Given the description of an element on the screen output the (x, y) to click on. 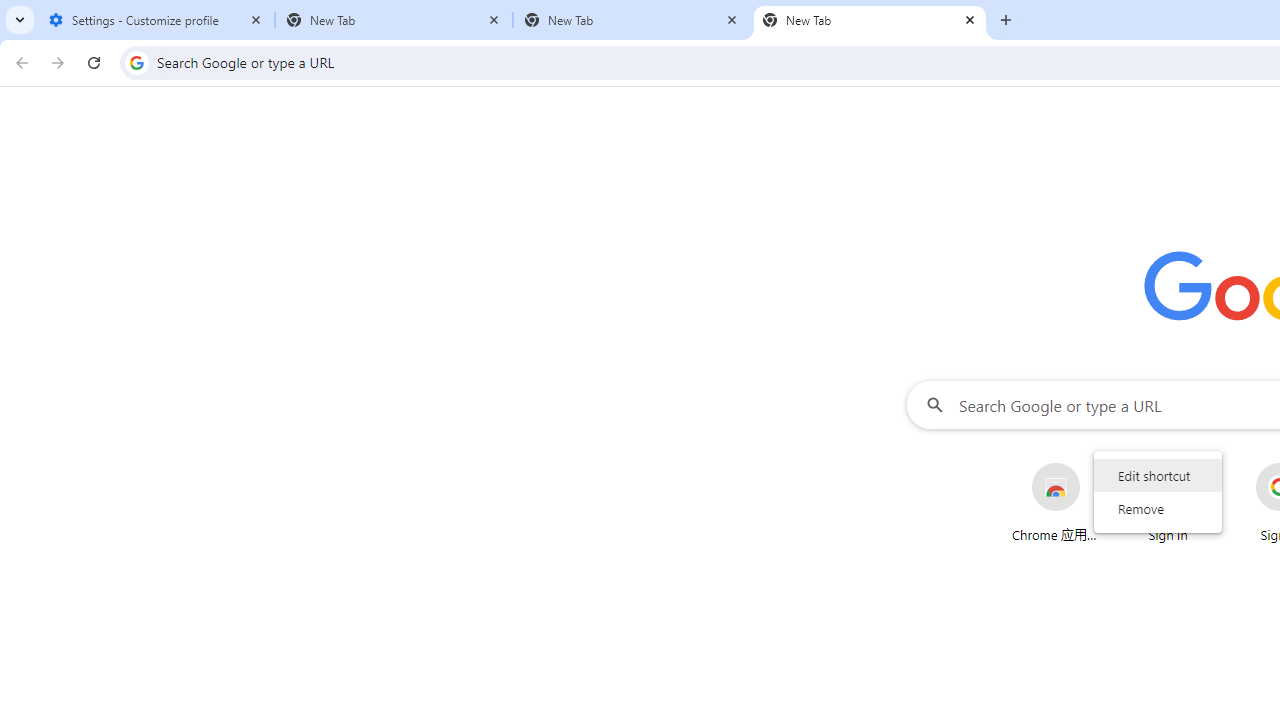
New Tab (870, 20)
Settings - Customize profile (156, 20)
New Tab (632, 20)
Search icon (136, 62)
New Tab (394, 20)
Remove (1158, 507)
AutomationID: wrapper (1158, 491)
